Given the description of an element on the screen output the (x, y) to click on. 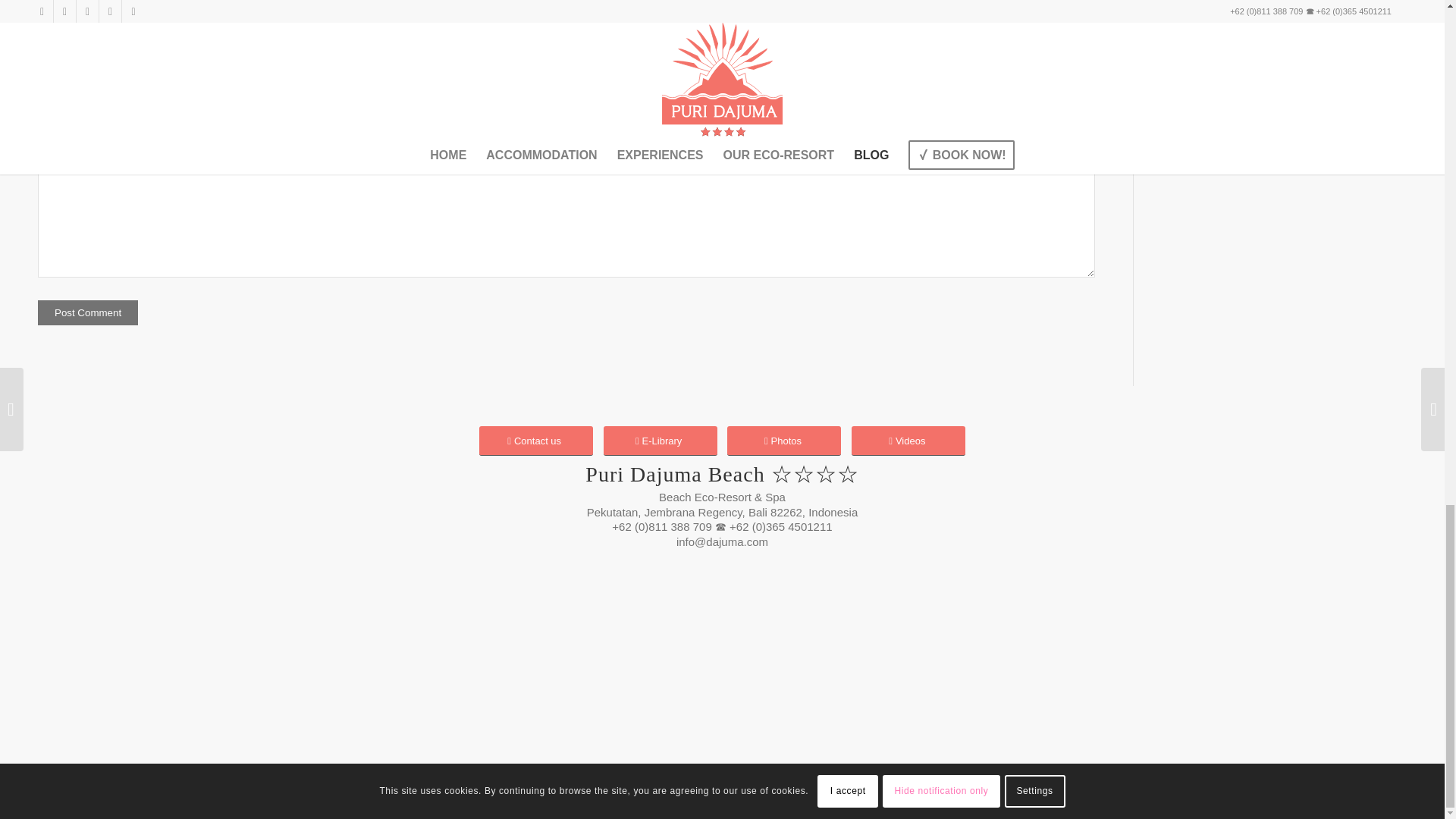
yes (45, 145)
Post Comment (87, 312)
